Given the description of an element on the screen output the (x, y) to click on. 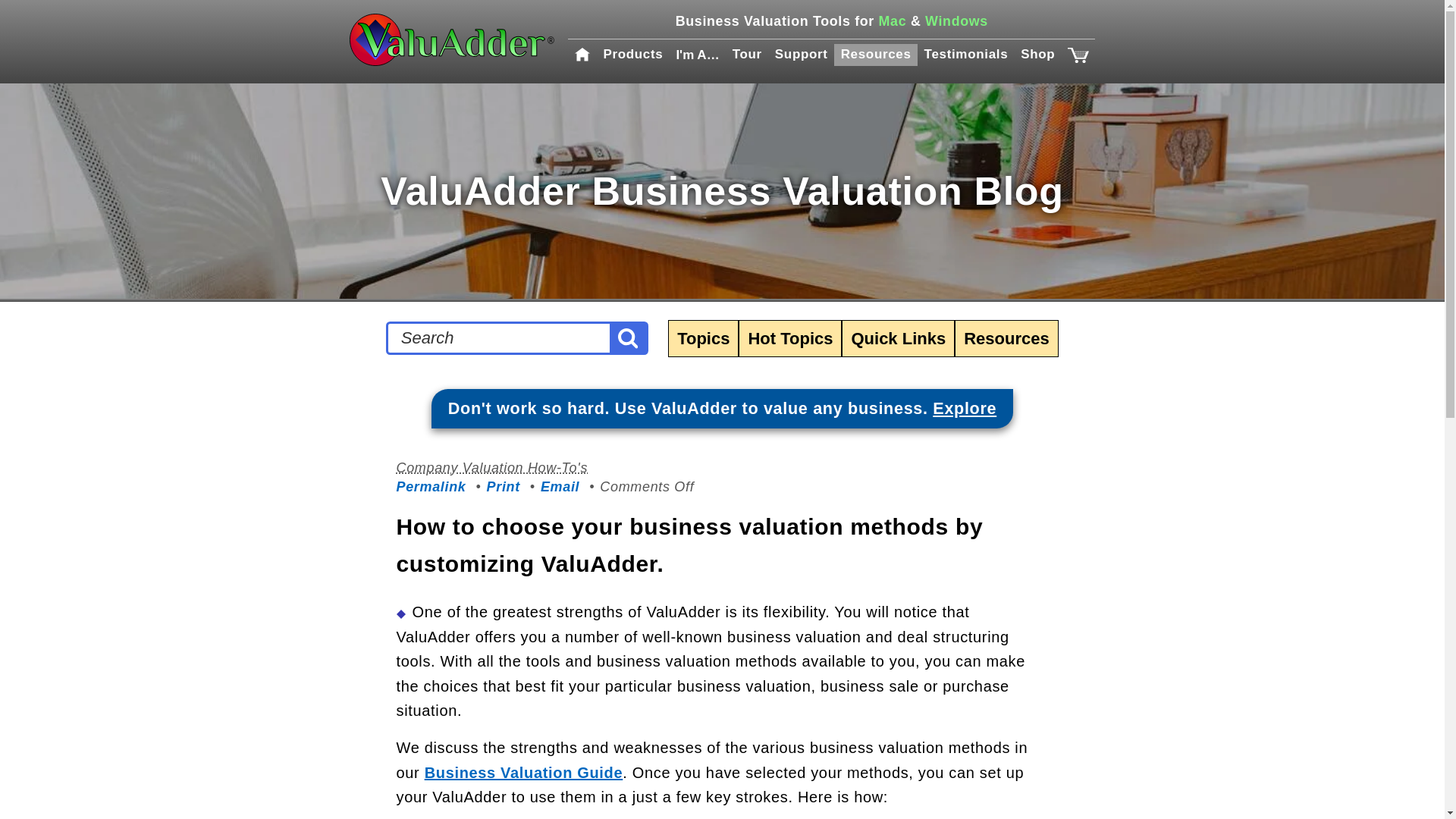
Search (499, 337)
Support (801, 55)
Tour (746, 55)
ValuAdder Home (451, 40)
Search (628, 337)
ValuAdder Business Valuation Software Information Page (721, 407)
Topics (703, 338)
Hot Topics (790, 338)
Shop (1037, 55)
Resources (875, 55)
